Given the description of an element on the screen output the (x, y) to click on. 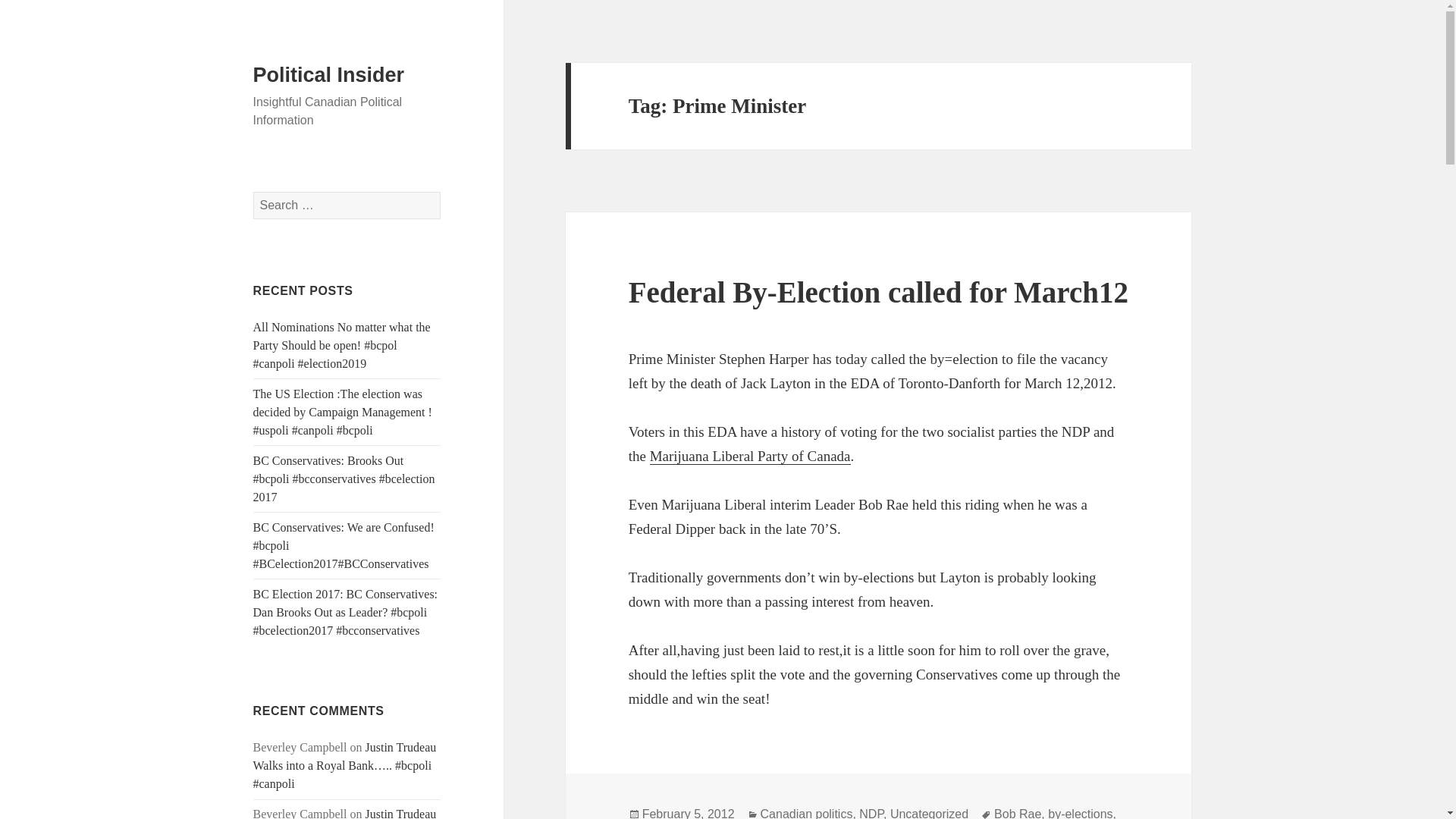
Political Insider (328, 74)
